Given the description of an element on the screen output the (x, y) to click on. 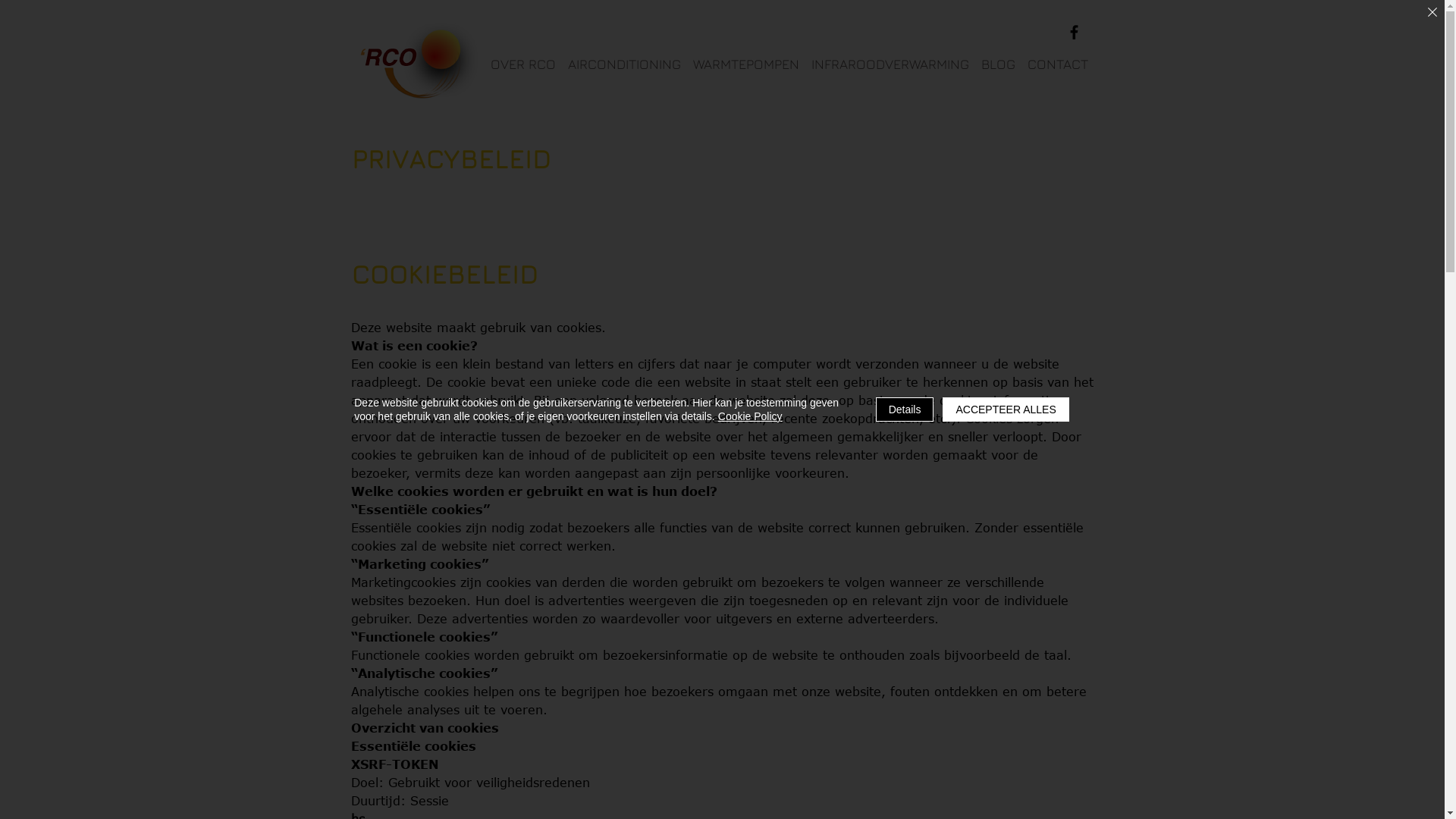
Cookie Policy Element type: text (750, 416)
BLOG Element type: text (998, 64)
CONTACT Element type: text (1056, 64)
INFRAROODVERWARMING Element type: text (890, 64)
AIRCONDITIONING Element type: text (623, 64)
WARMTEPOMPEN Element type: text (746, 64)
Details Element type: text (904, 409)
ACCEPTEER ALLES Element type: text (1005, 409)
OVER RCO Element type: text (522, 64)
